Given the description of an element on the screen output the (x, y) to click on. 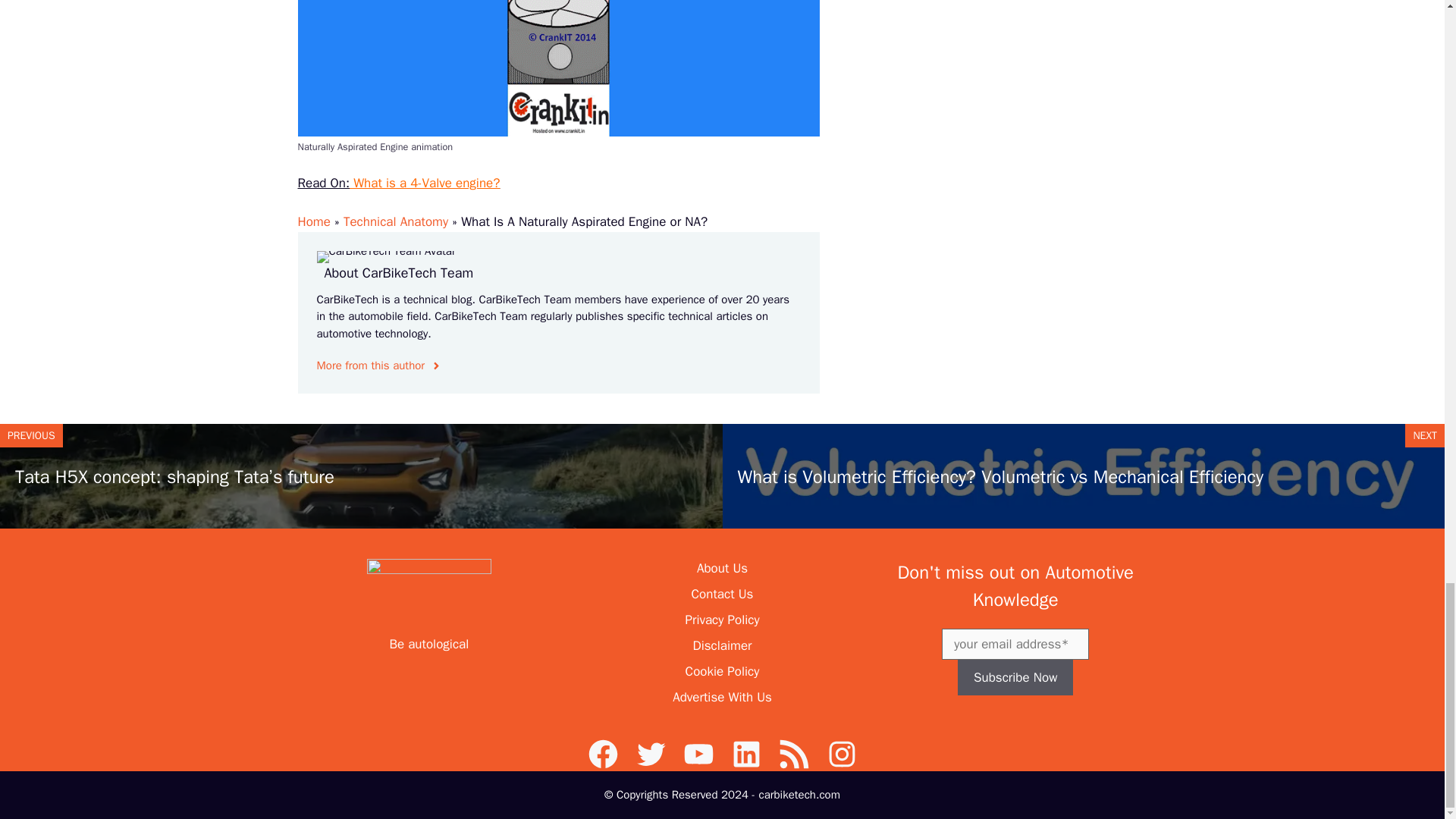
More from this author (379, 365)
Disclaimer (722, 645)
Contact Us (722, 593)
Home (313, 221)
Technical Anatomy (395, 221)
Privacy Policy (721, 619)
Subscribe Now (1015, 678)
What is a 4-Valve engine? (424, 182)
Cookie Policy (722, 671)
